Given the description of an element on the screen output the (x, y) to click on. 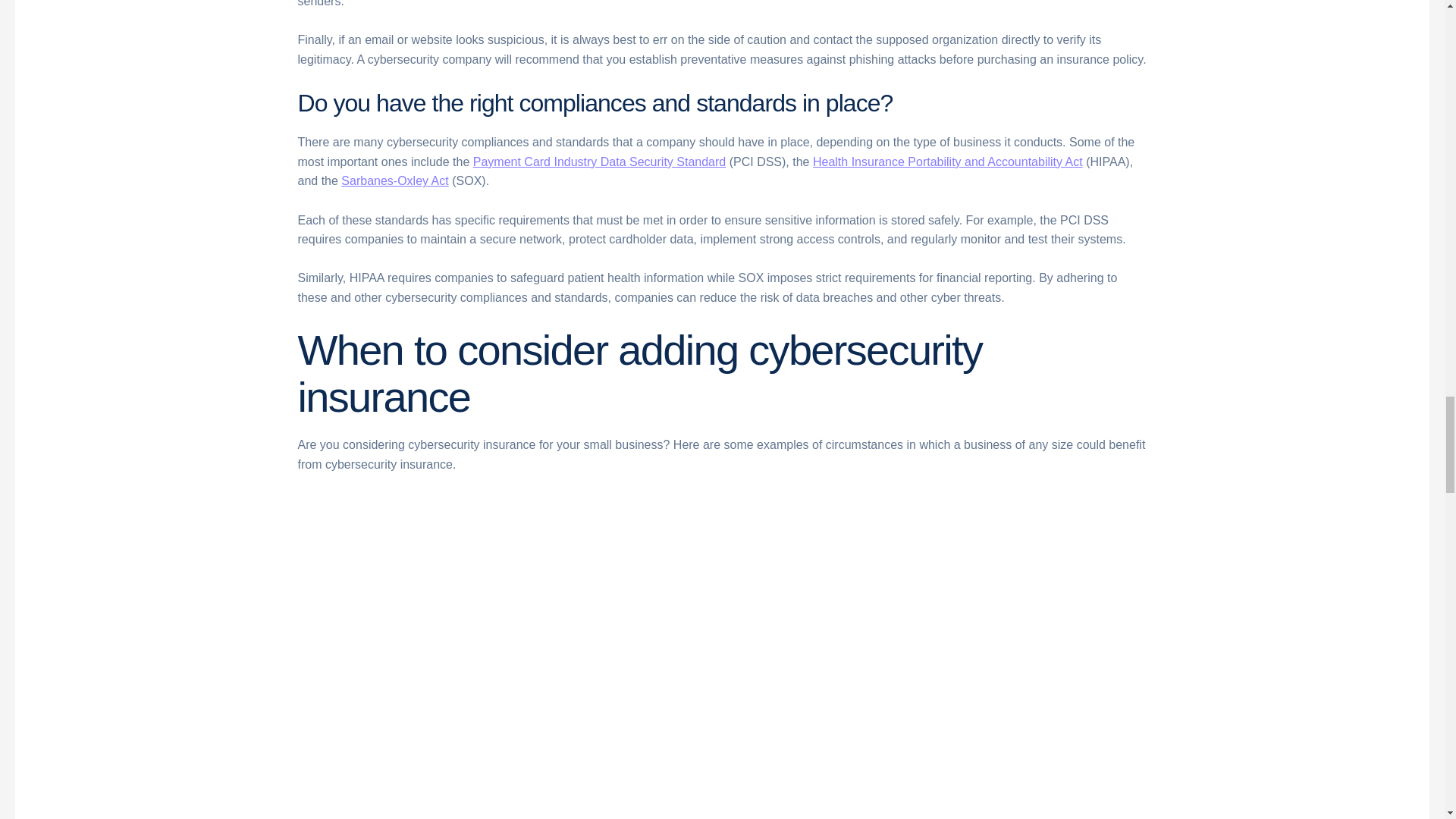
Health Insurance Portability and Accountability Act (947, 161)
Payment Card Industry Data Security Standard (599, 161)
Sarbanes-Oxley Act (394, 180)
